Given the description of an element on the screen output the (x, y) to click on. 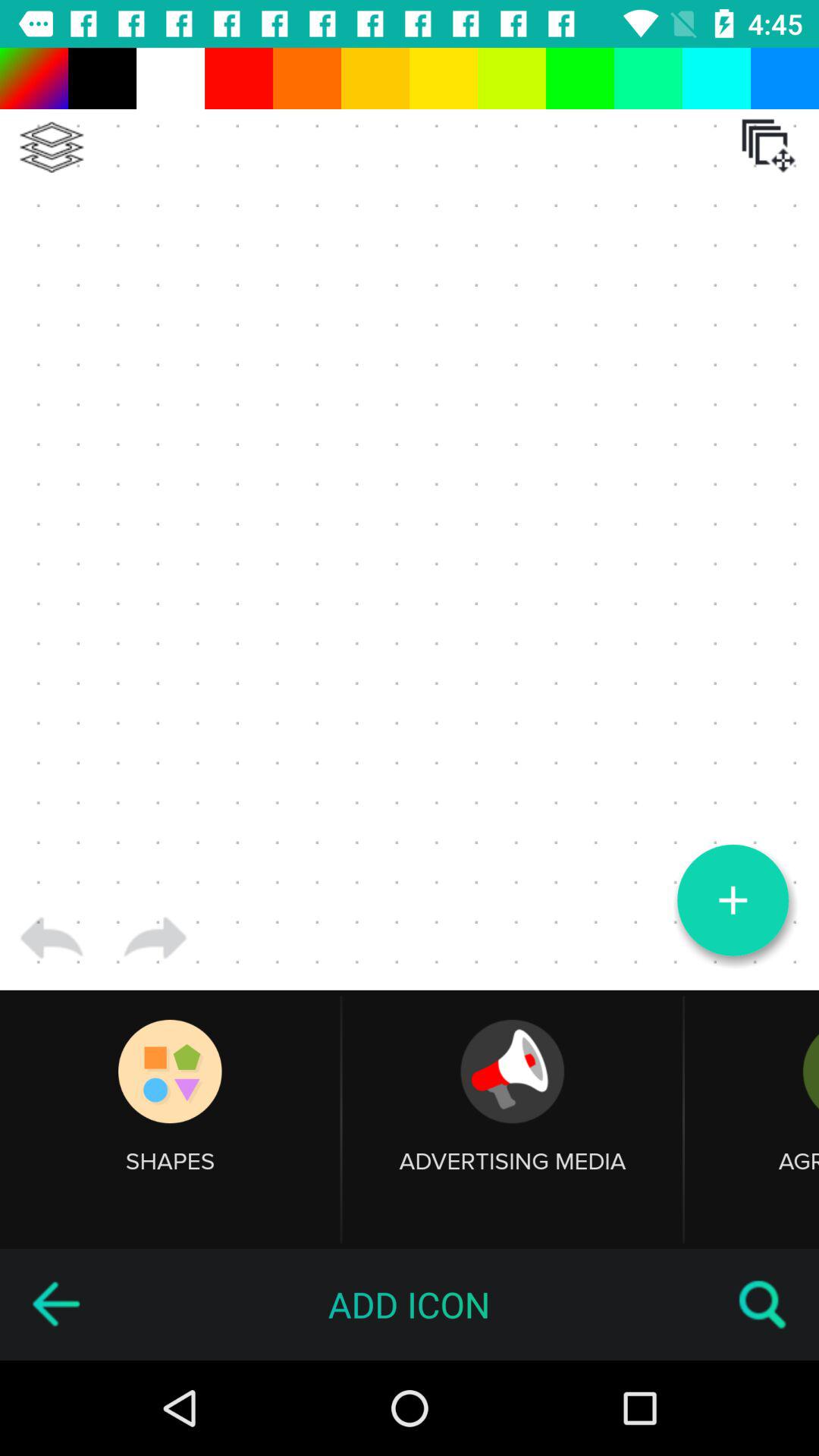
go back (55, 1304)
